Given the description of an element on the screen output the (x, y) to click on. 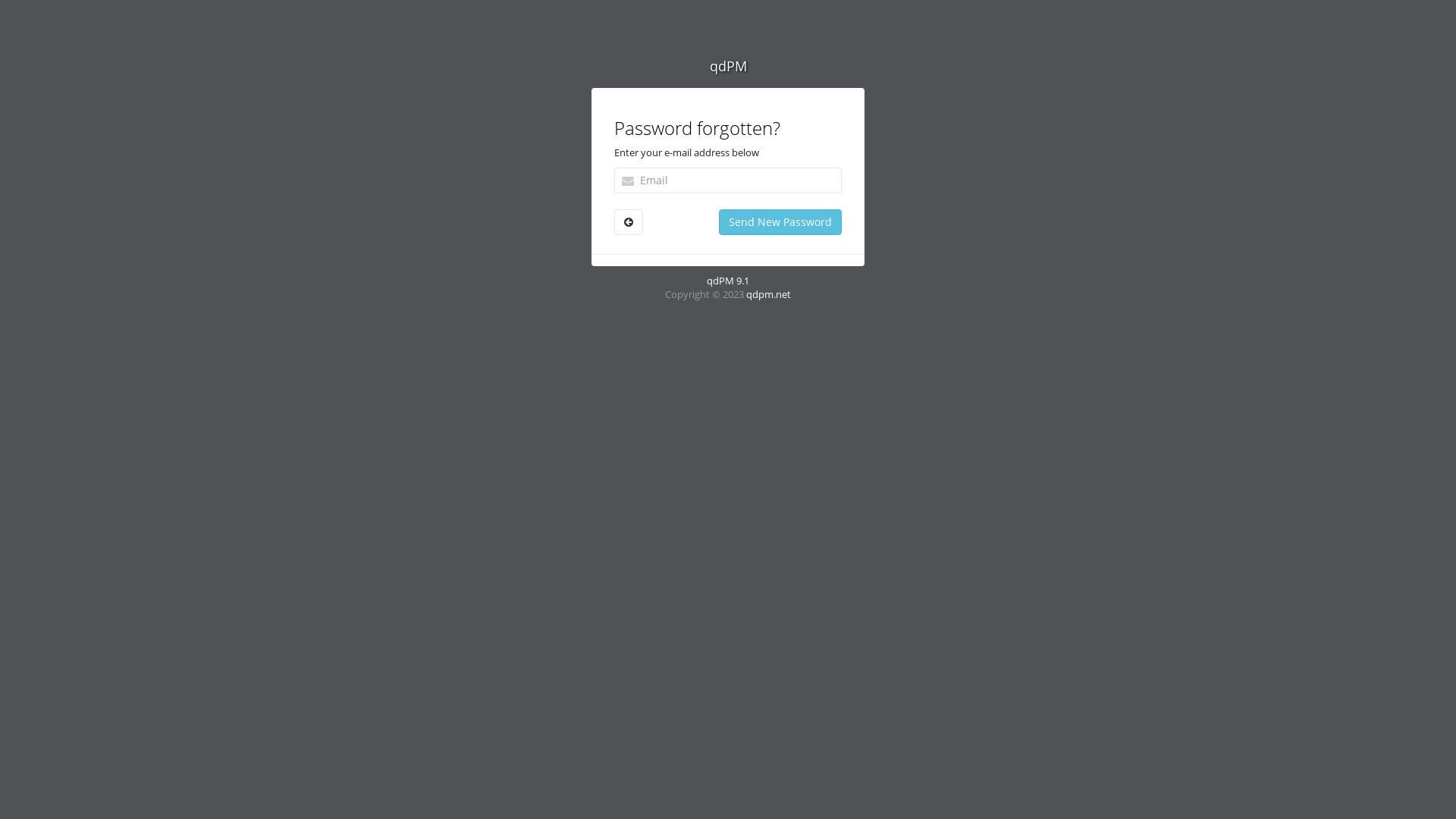
qdpm.net Element type: text (768, 294)
Send New Password Element type: text (779, 222)
qdPM 9.1 Element type: text (727, 280)
